Given the description of an element on the screen output the (x, y) to click on. 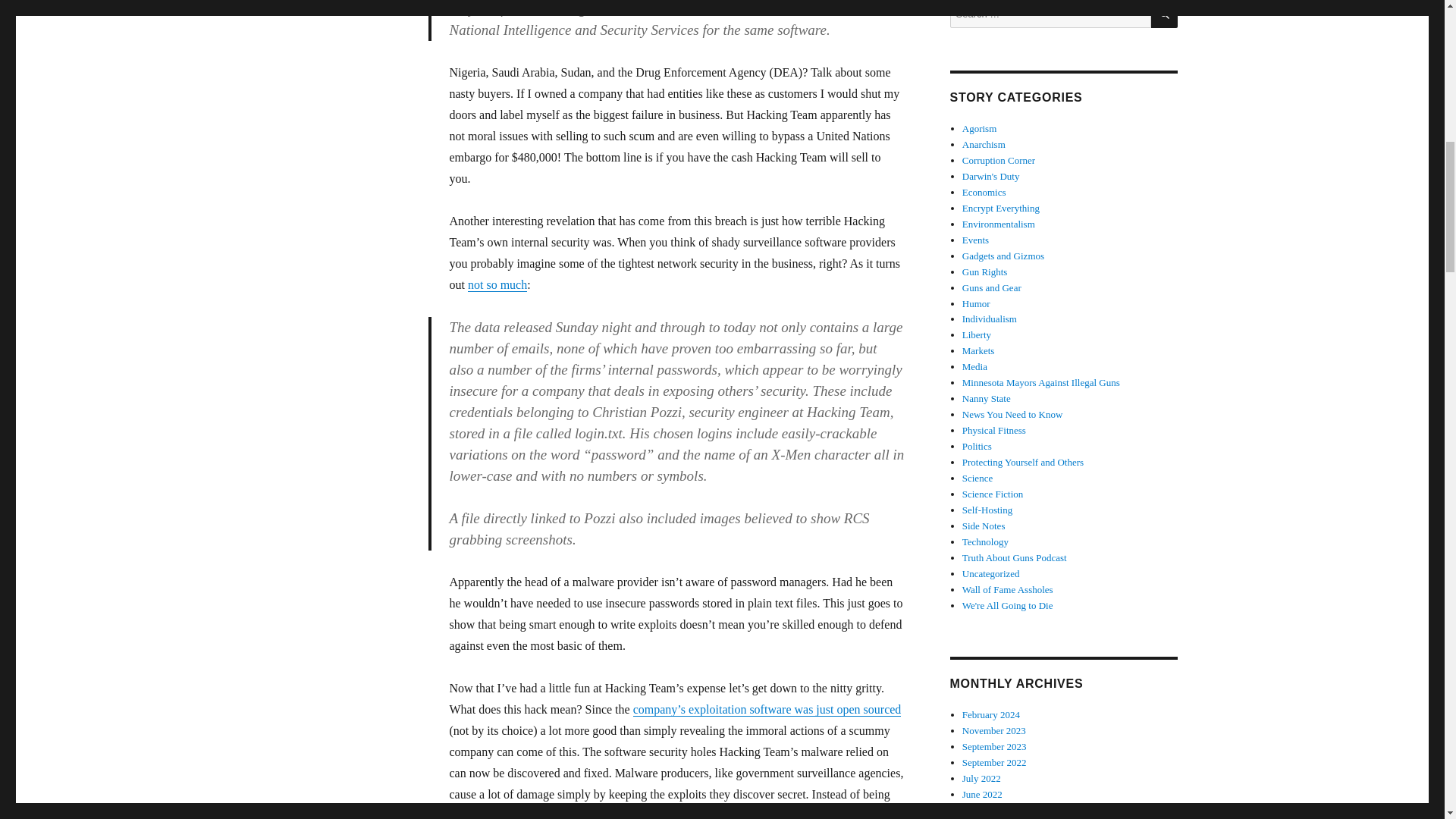
Media (974, 366)
Anarchism (984, 143)
Encrypt Everything (1000, 207)
Economics (984, 192)
Minnesota Mayors Against Illegal Guns (1040, 382)
Nanny State (986, 398)
Gadgets and Gizmos (1002, 255)
Liberty (976, 334)
Guns and Gear (992, 287)
Corruption Corner (998, 160)
Humor (976, 302)
Environmentalism (998, 224)
not so much (497, 284)
Events (975, 239)
Agorism (979, 128)
